Given the description of an element on the screen output the (x, y) to click on. 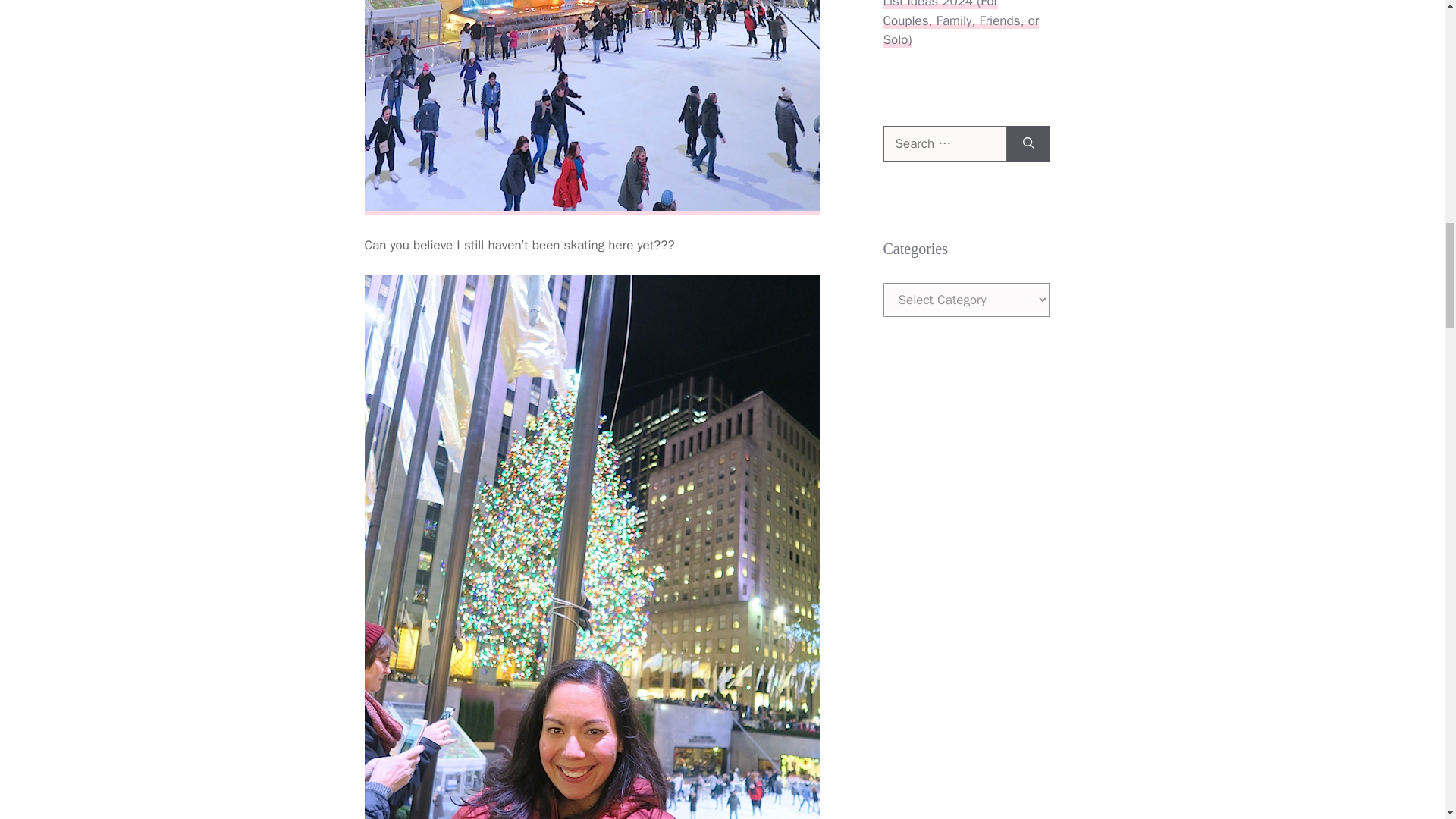
Search for: (944, 144)
